Given the description of an element on the screen output the (x, y) to click on. 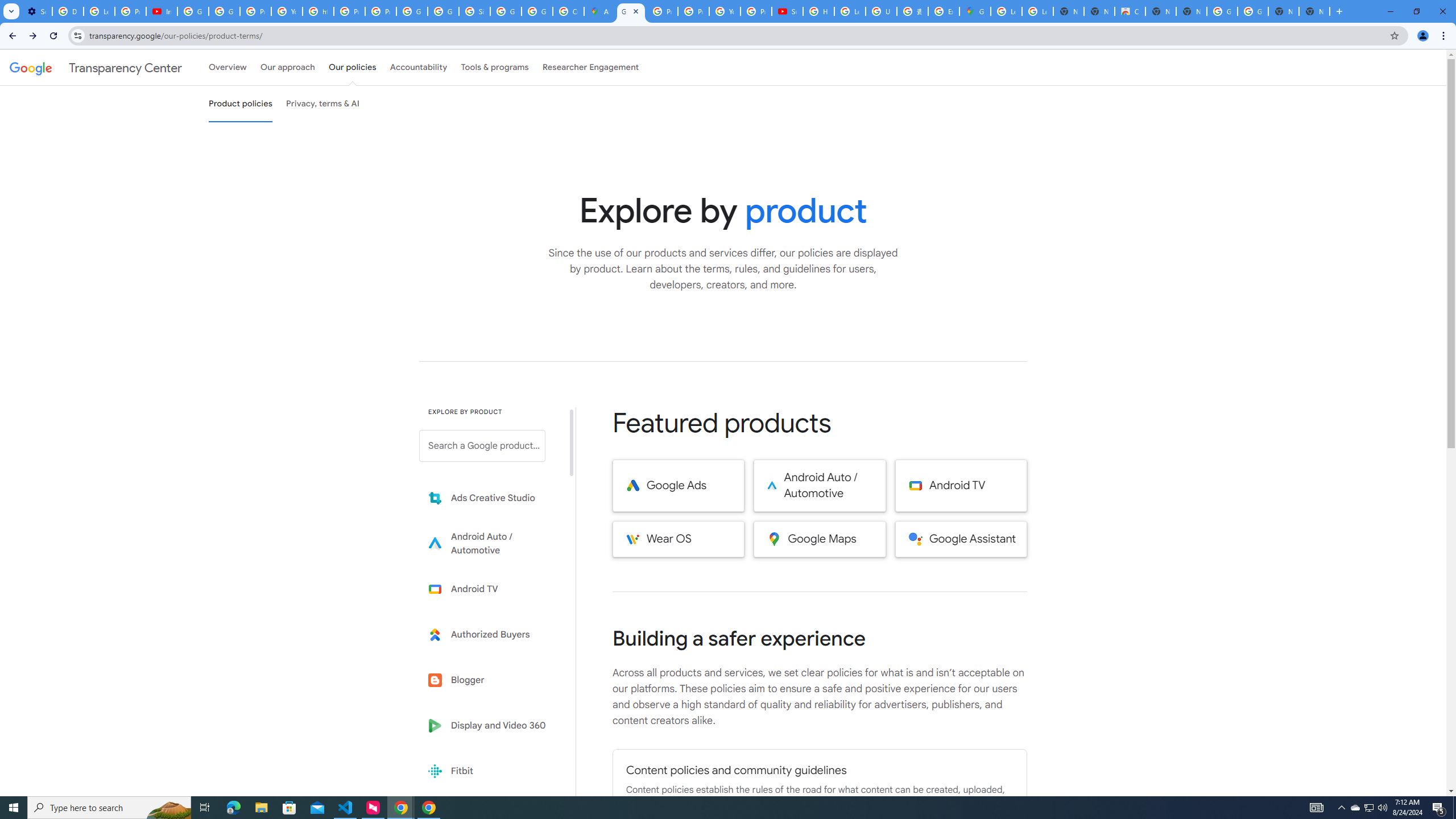
Our policies (351, 67)
Explore new street-level details - Google Maps Help (943, 11)
Transparency Center (95, 67)
Google Maps (820, 538)
Display and Video 360 (490, 725)
Learn more about Android Auto (490, 543)
YouTube (286, 11)
Google Maps (974, 11)
Google Images (1222, 11)
Learn more about Authorized Buyers (490, 634)
